Given the description of an element on the screen output the (x, y) to click on. 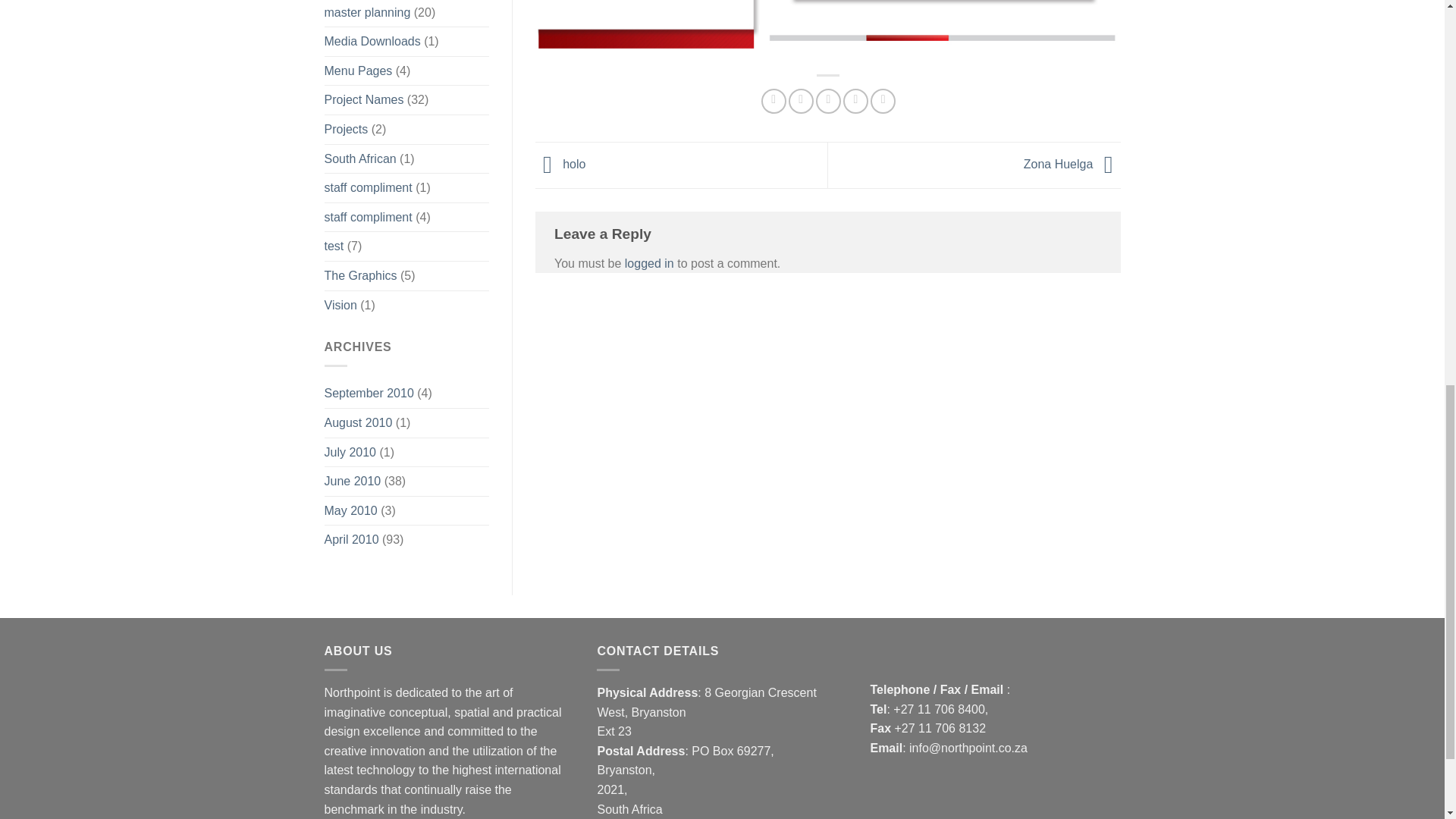
The Graphics (360, 275)
South African (360, 158)
Share on Twitter (801, 100)
Projects (346, 129)
logged in (649, 263)
Pin on Pinterest (855, 100)
Media Downloads (372, 41)
holo (560, 164)
Vision (340, 305)
Share on LinkedIn (882, 100)
master planning (367, 13)
August 2010 (358, 422)
Email to a Friend (828, 100)
June 2010 (352, 481)
staff compliment (368, 187)
